Given the description of an element on the screen output the (x, y) to click on. 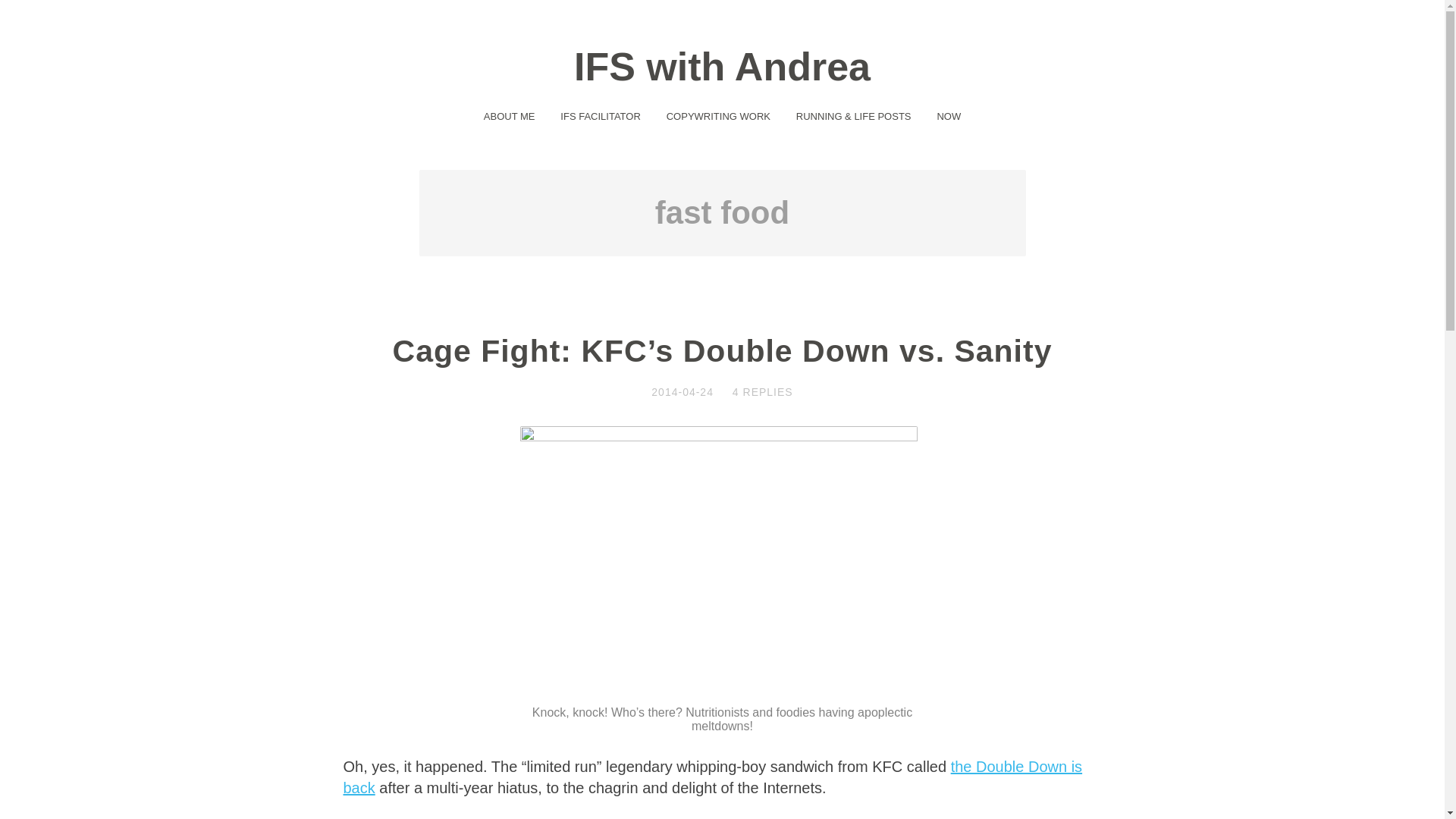
Double Down review on GrubGrade (711, 777)
ABOUT ME (509, 115)
IFS with Andrea (721, 66)
Search (32, 12)
2014-04-24 (681, 391)
IFS with Andrea (721, 66)
the Double Down is back (711, 777)
4 REPLIES (762, 391)
IFS FACILITATOR (599, 115)
COPYWRITING WORK (718, 115)
